Given the description of an element on the screen output the (x, y) to click on. 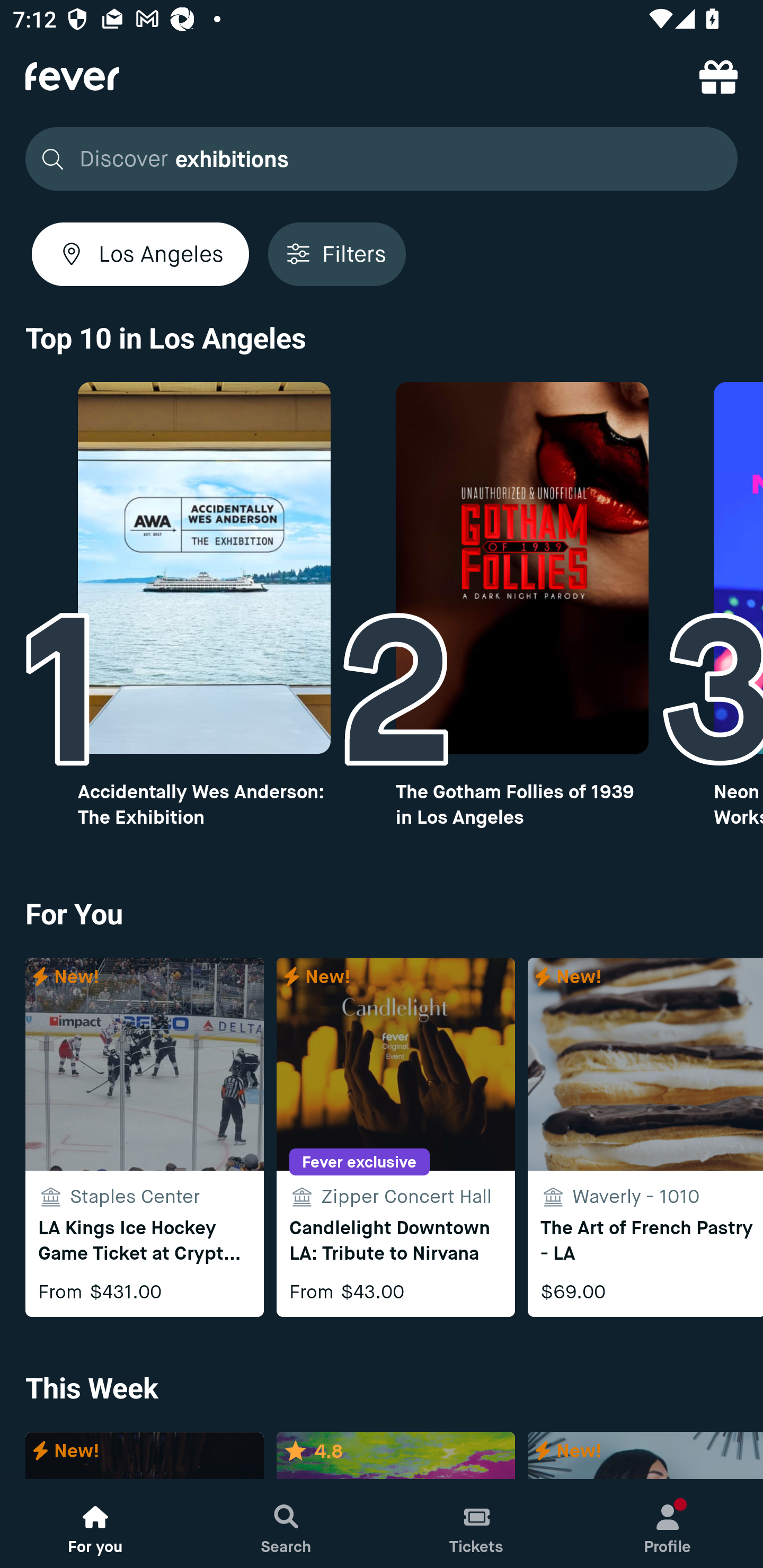
referral (718, 75)
Discover exhibitions (381, 158)
Discover exhibitions (376, 158)
Los Angeles (140, 253)
Filters (336, 253)
Top10 image (203, 568)
Top10 image (521, 568)
Search (285, 1523)
Tickets (476, 1523)
Profile, New notification Profile (667, 1523)
